Given the description of an element on the screen output the (x, y) to click on. 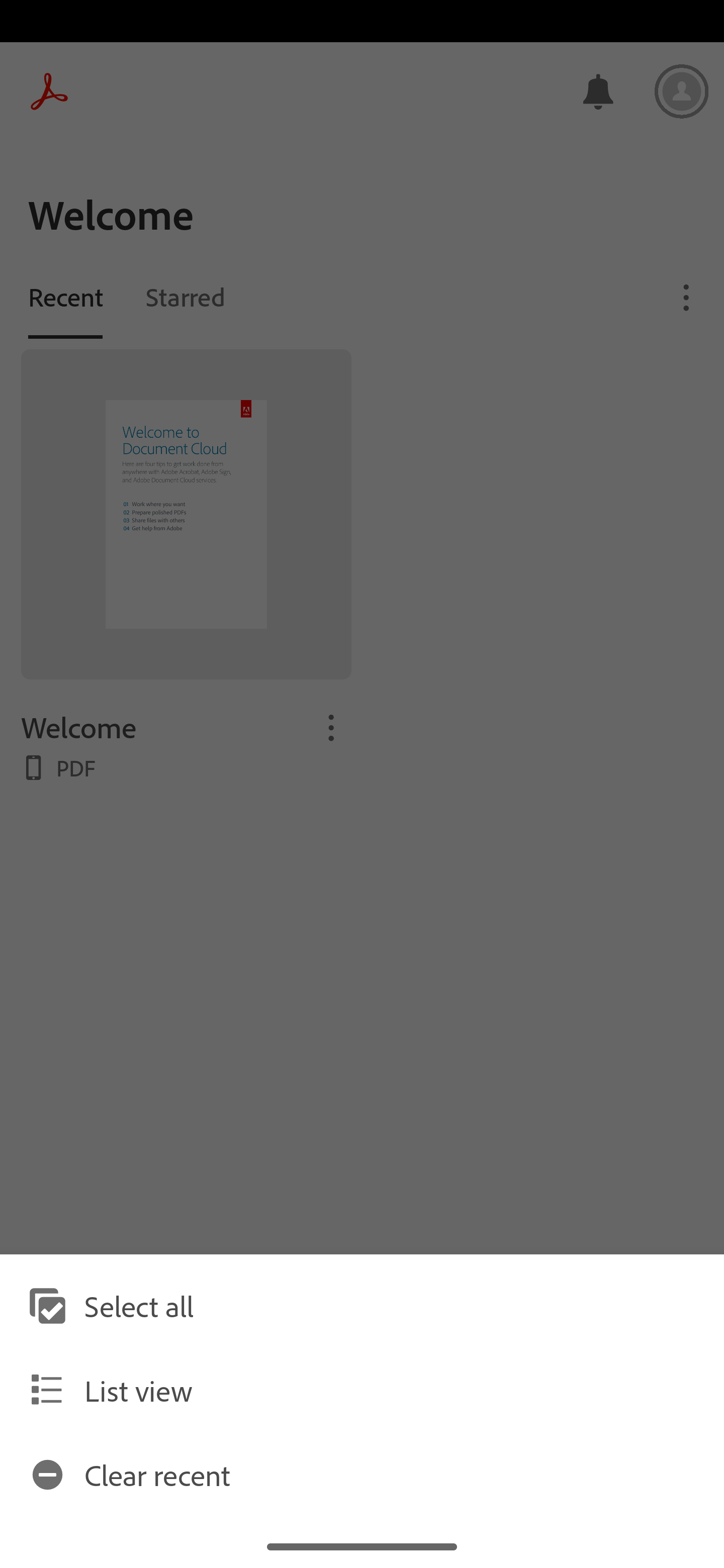
Select all (362, 1305)
List view (362, 1389)
Clear recent (362, 1473)
